Given the description of an element on the screen output the (x, y) to click on. 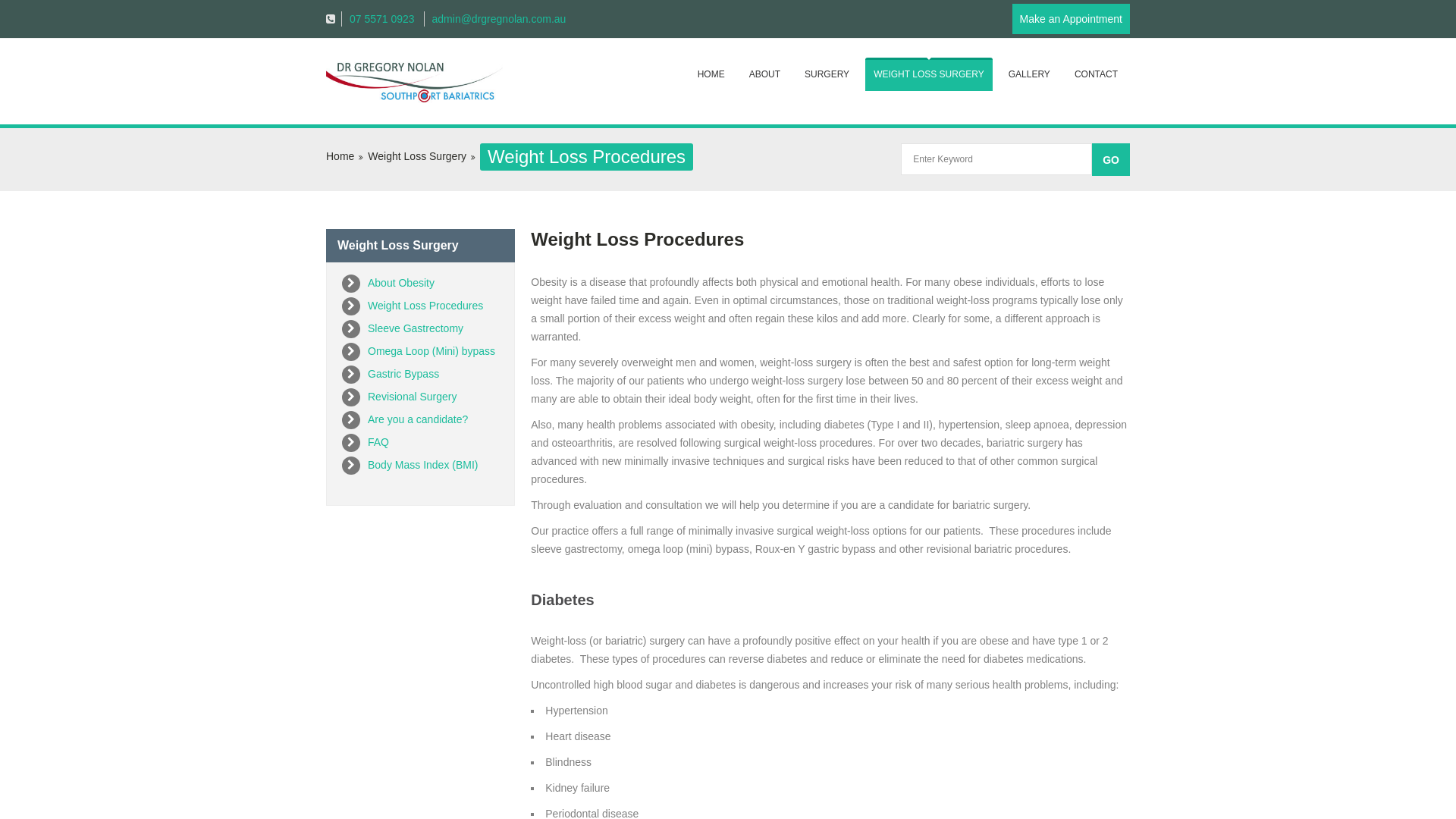
admin@drgregnolan.com.au Element type: text (494, 18)
Go Element type: text (1110, 159)
ABOUT Element type: text (764, 74)
Omega Loop (Mini) bypass Element type: text (431, 351)
GALLERY Element type: text (1029, 74)
Weight Loss Procedures Element type: text (425, 305)
FAQ Element type: text (378, 442)
HOME Element type: text (711, 74)
Gastric Bypass Element type: text (403, 373)
Body Mass Index (BMI) Element type: text (422, 464)
Home Element type: text (340, 156)
Make an Appointment Element type: text (1070, 18)
07 5571 0923 Element type: text (377, 18)
Weight Loss Surgery Element type: text (416, 156)
Sleeve Gastrectomy Element type: text (415, 328)
Are you a candidate? Element type: text (417, 419)
WEIGHT LOSS SURGERY Element type: text (928, 74)
Revisional Surgery Element type: text (412, 396)
Dr Nolan Element type: hover (414, 82)
CONTACT Element type: text (1096, 74)
SURGERY Element type: text (826, 74)
Dr Nolan Element type: hover (414, 83)
About Obesity Element type: text (400, 282)
